Given the description of an element on the screen output the (x, y) to click on. 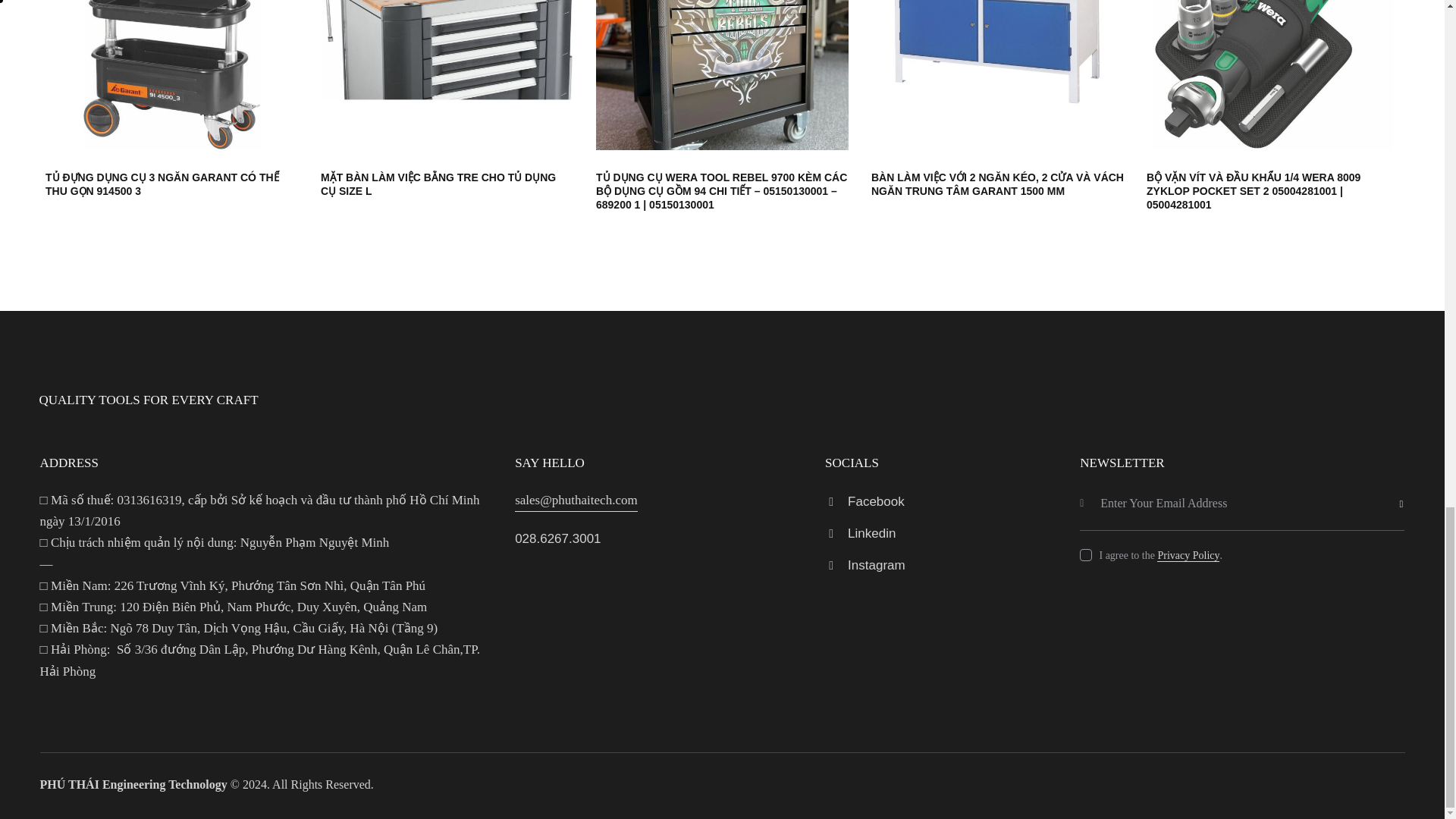
1 (1409, 482)
